Given the description of an element on the screen output the (x, y) to click on. 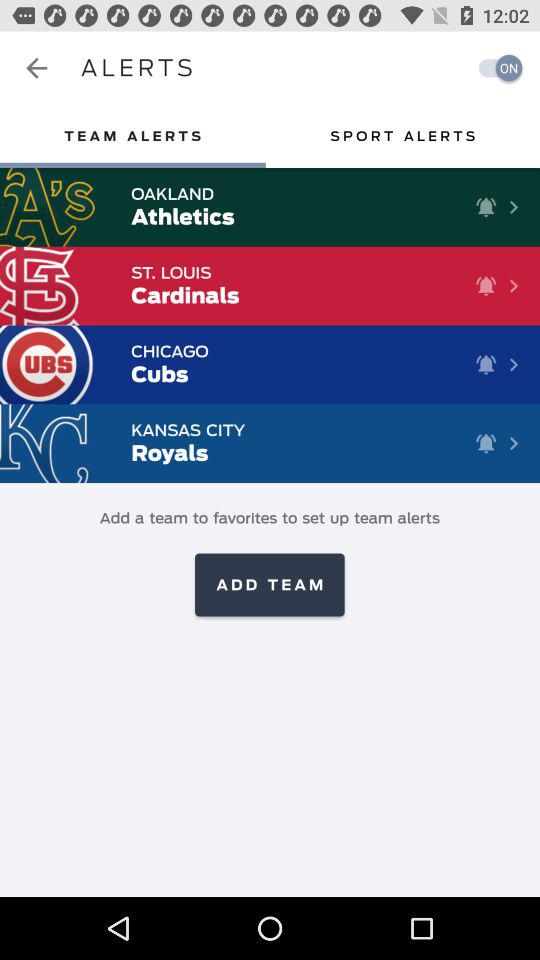
press the app to the right of alerts icon (495, 67)
